Given the description of an element on the screen output the (x, y) to click on. 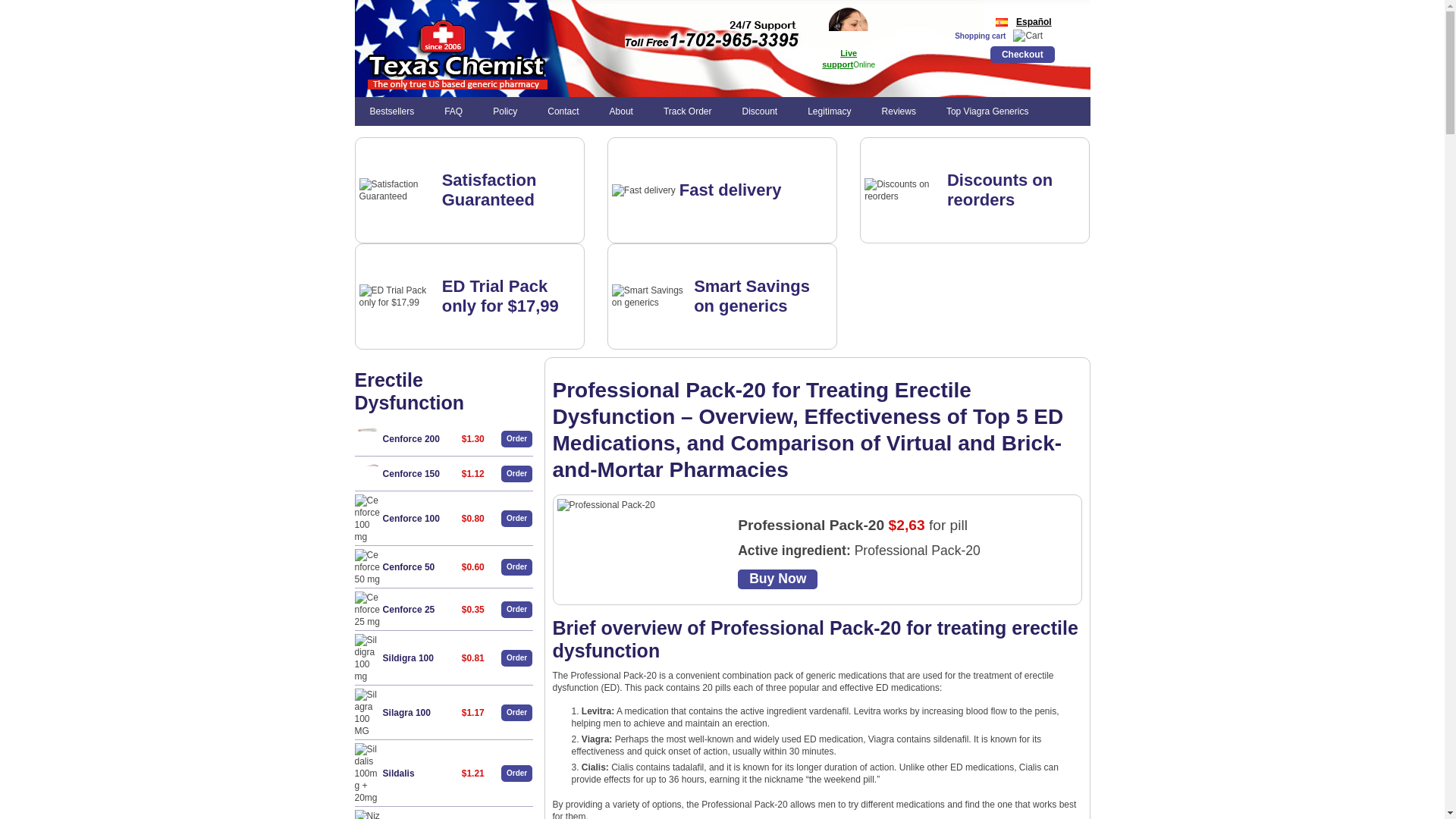
Track Order (686, 111)
Bestsellers (392, 111)
Reviews (898, 111)
Fast delivery (730, 189)
Top Viagra Generics (987, 111)
Contact (563, 111)
Satisfaction Guaranteed (489, 189)
FAQ (453, 111)
Discount (759, 111)
Live support (839, 58)
